Given the description of an element on the screen output the (x, y) to click on. 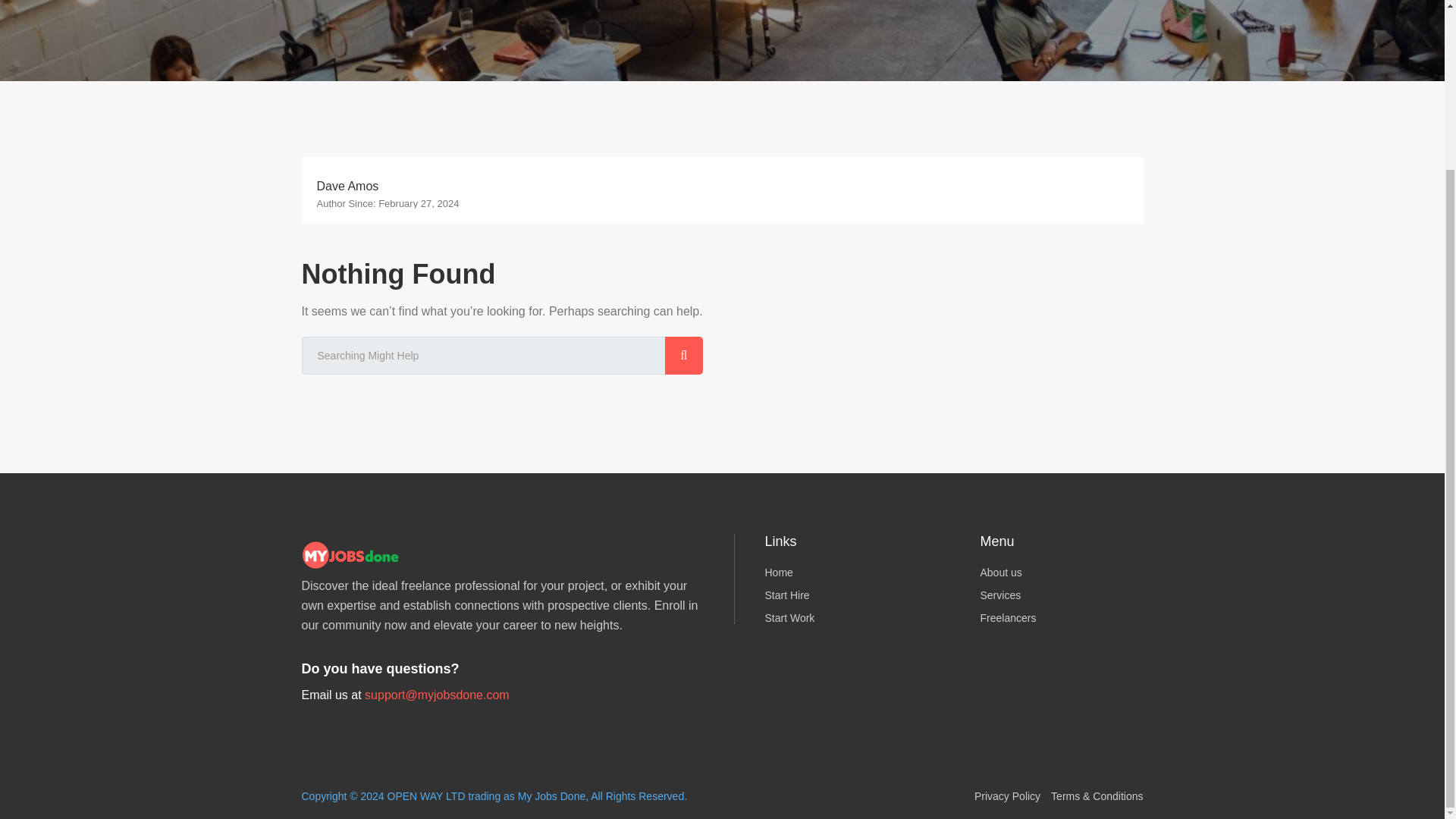
Privacy Policy (1007, 796)
Start Work (845, 617)
Freelancers (1060, 617)
Services (1060, 594)
About us (1060, 572)
Start Hire (845, 594)
Home (845, 572)
